Given the description of an element on the screen output the (x, y) to click on. 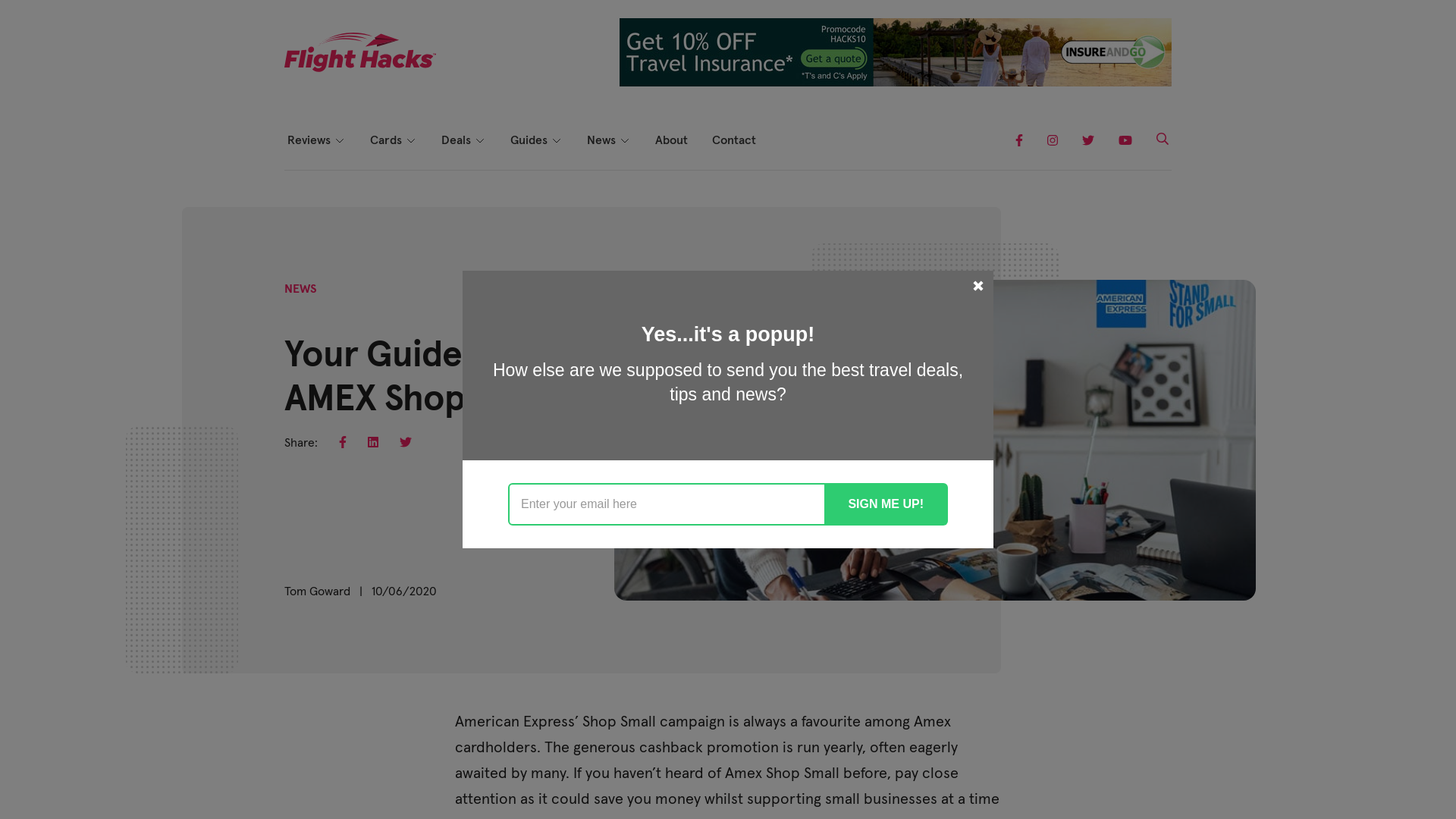
Crypto & Finance Deals Element type: text (513, 187)
Lounge Reviews Element type: text (360, 215)
Guides Element type: text (536, 139)
Deals Element type: text (463, 139)
Buying Points & Miles Element type: text (582, 187)
Business Credit Cards Element type: text (442, 215)
Loyalty News Element type: text (659, 242)
Cards Element type: text (393, 139)
Debit Cards Element type: text (442, 242)
Rideshare Deals Element type: text (513, 351)
Contact Element type: text (734, 139)
Hotel Deals Element type: text (513, 242)
Top 3 Qantas Cards Element type: text (442, 187)
Flight Reviews Element type: text (360, 187)
Hotel Reviews Element type: text (360, 242)
Flight Deals Element type: text (513, 215)
About Element type: text (671, 139)
Travel Insurance Deals Element type: text (513, 378)
Food Delivery Deals Element type: text (513, 324)
Hotel News Element type: text (659, 215)
Reviews Element type: text (316, 139)
Aviation News Element type: text (659, 187)
News Element type: text (608, 139)
Car Rental Deals Element type: text (513, 269)
Shopping Deals Element type: text (513, 296)
